Given the description of an element on the screen output the (x, y) to click on. 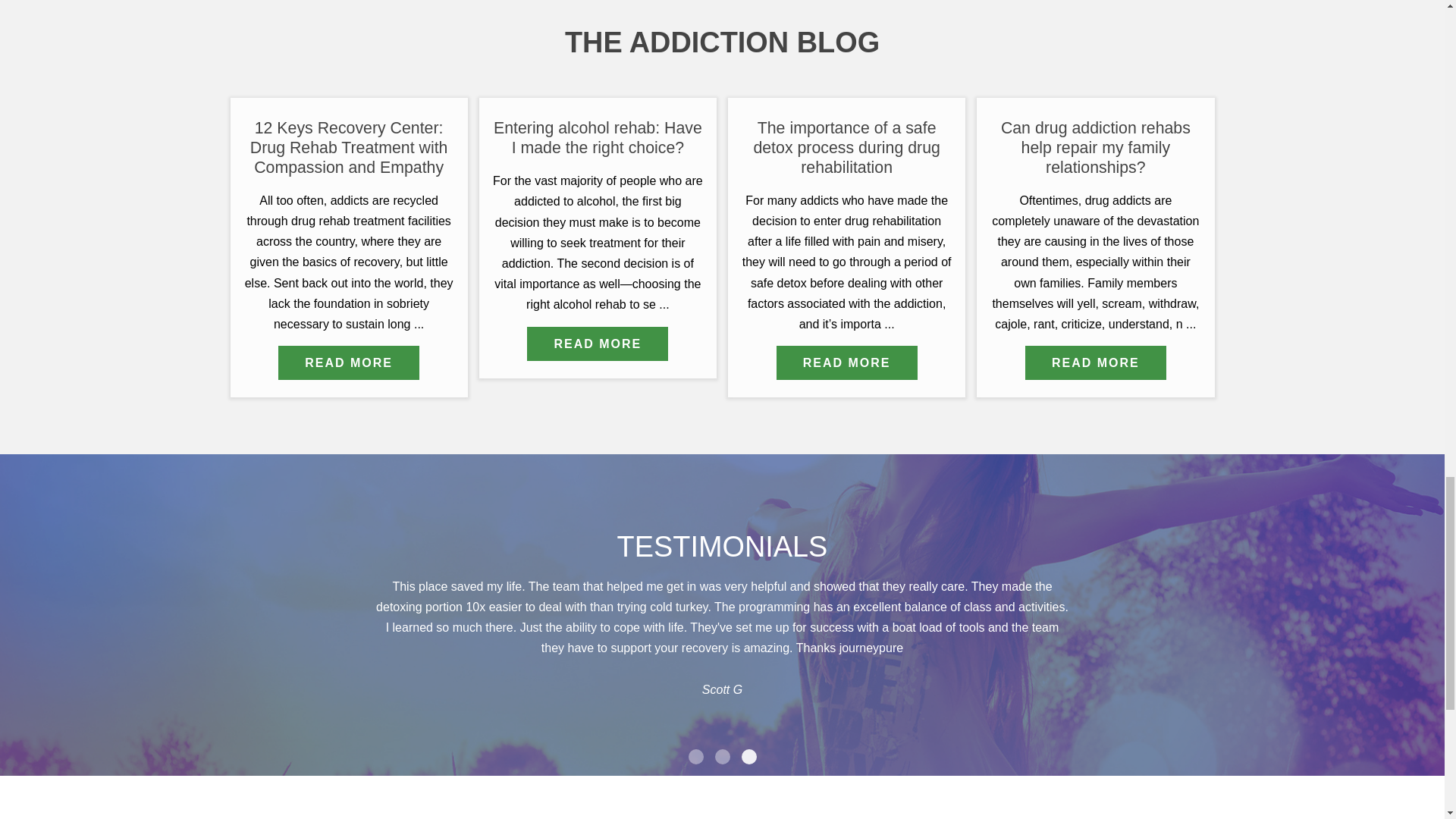
Entering alcohol rehab: Have I made the right choice? (598, 138)
Entering alcohol rehab: Have I made the right choice? (597, 343)
